Given the description of an element on the screen output the (x, y) to click on. 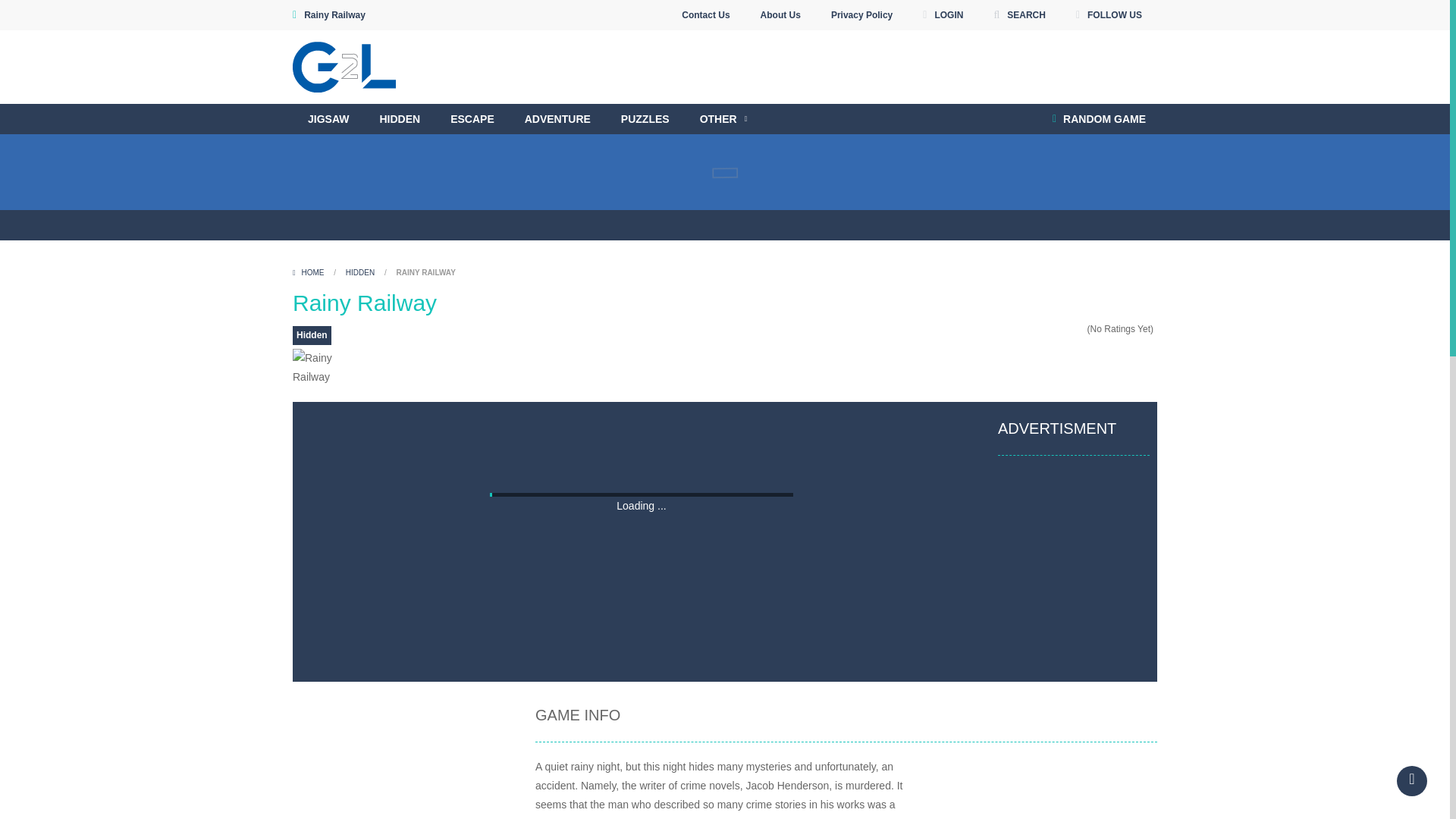
OTHER (723, 119)
FOLLOW US (1108, 15)
HIDDEN (360, 272)
ADVENTURE (557, 119)
Games2Live (344, 65)
Play a random game! (1099, 119)
Hidden (311, 334)
HOME (309, 272)
About Us (780, 15)
Contact Us (705, 15)
